Given the description of an element on the screen output the (x, y) to click on. 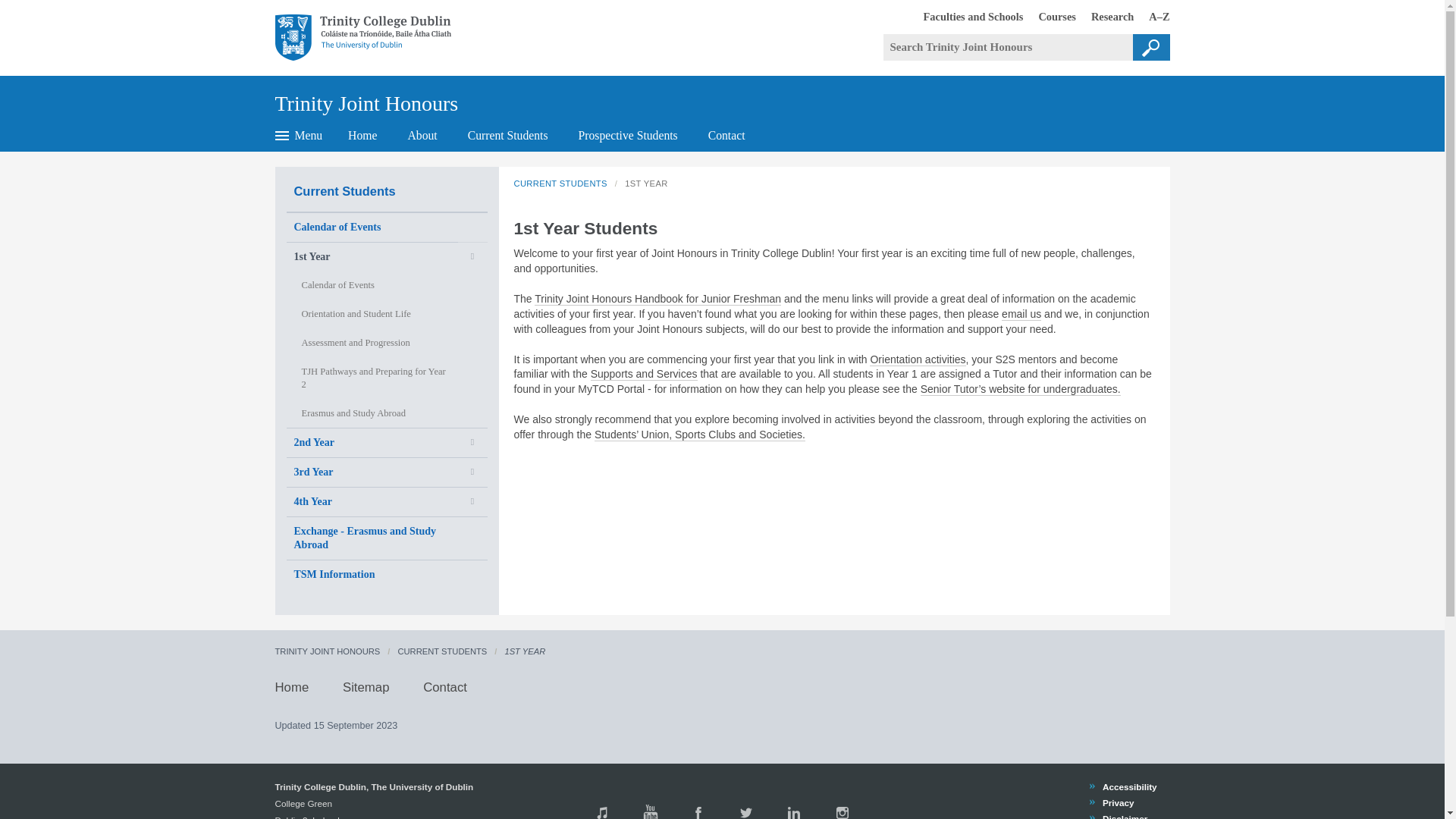
Trinity College Dublin, The University of Dublin (370, 38)
Prospective Students (1104, 15)
Trinity Joint Honours (628, 135)
Go (366, 98)
Faculties and Schools (1151, 47)
Menu (965, 15)
About (298, 135)
Contact (421, 135)
Home (726, 135)
